Given the description of an element on the screen output the (x, y) to click on. 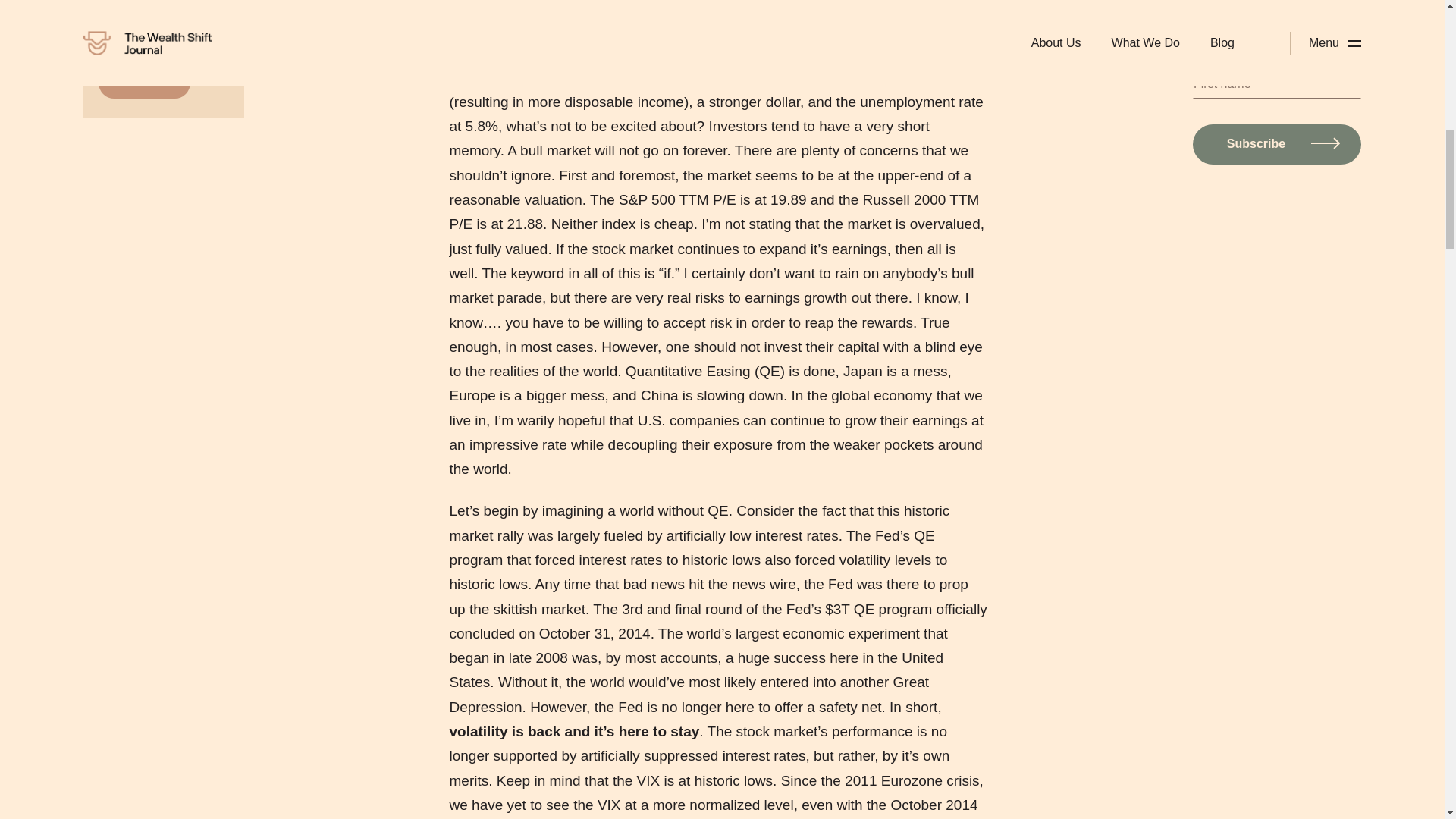
Download eBook (922, 173)
Subscribe (1276, 144)
Close (1144, 89)
Subscribe (1276, 144)
Learn More (144, 82)
